Given the description of an element on the screen output the (x, y) to click on. 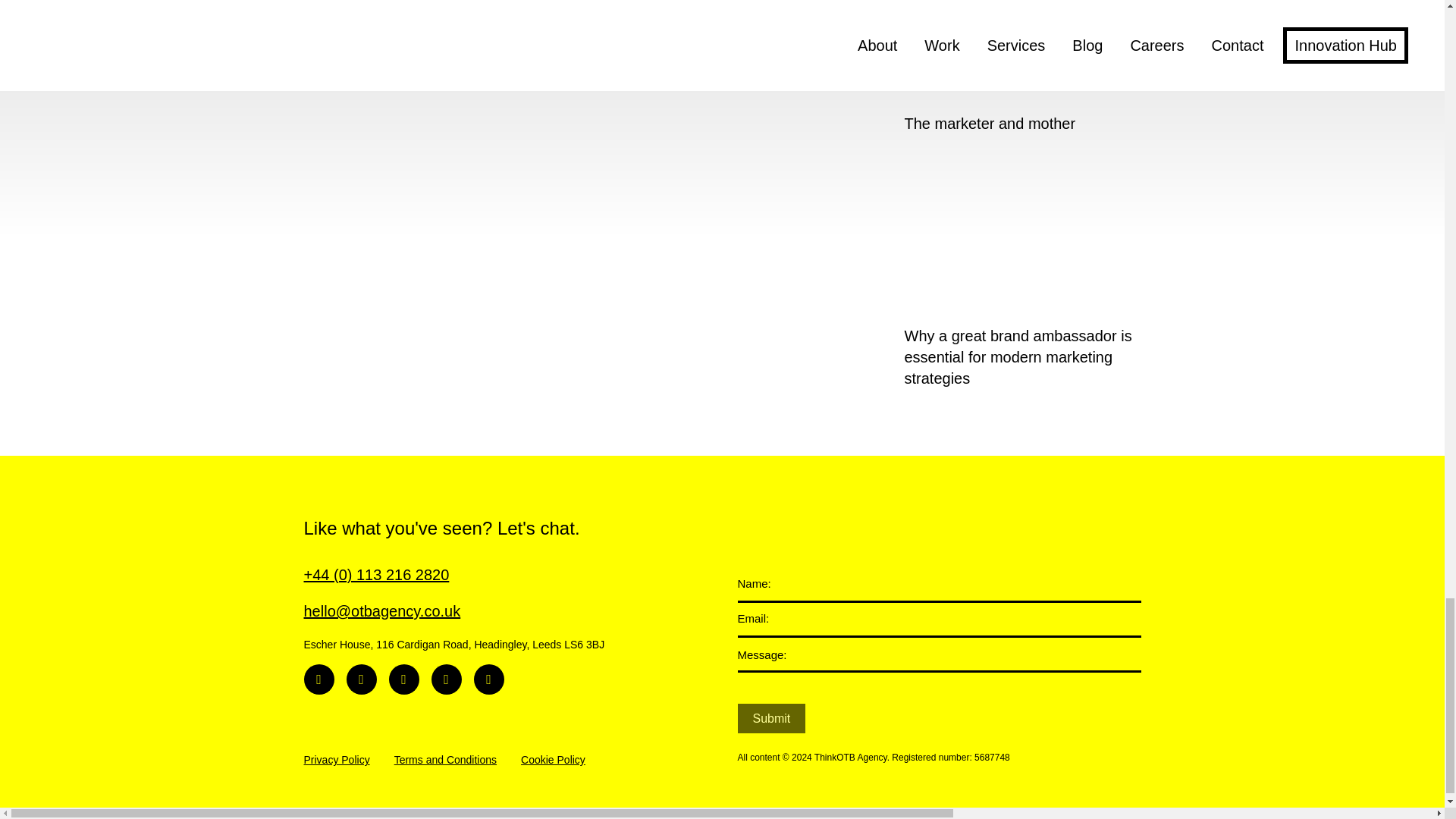
Twitter (403, 679)
Facebook (445, 679)
Linked In (317, 679)
Instagram (360, 679)
Submit (770, 718)
Blog (488, 679)
